Given the description of an element on the screen output the (x, y) to click on. 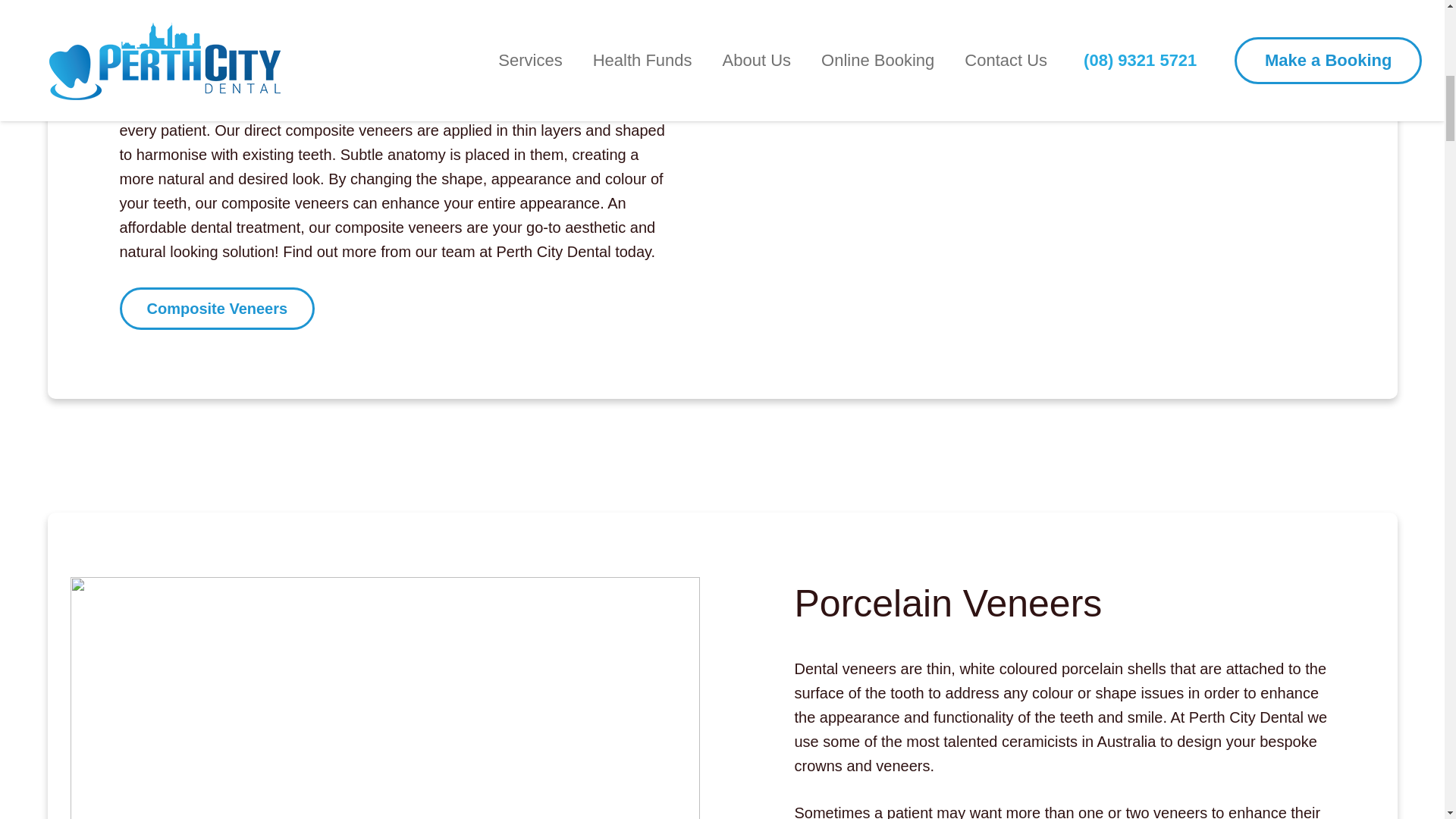
Back to top (1413, 45)
composite veneers are an affordable dental treatment (299, 57)
Composite Veneers (217, 308)
